Given the description of an element on the screen output the (x, y) to click on. 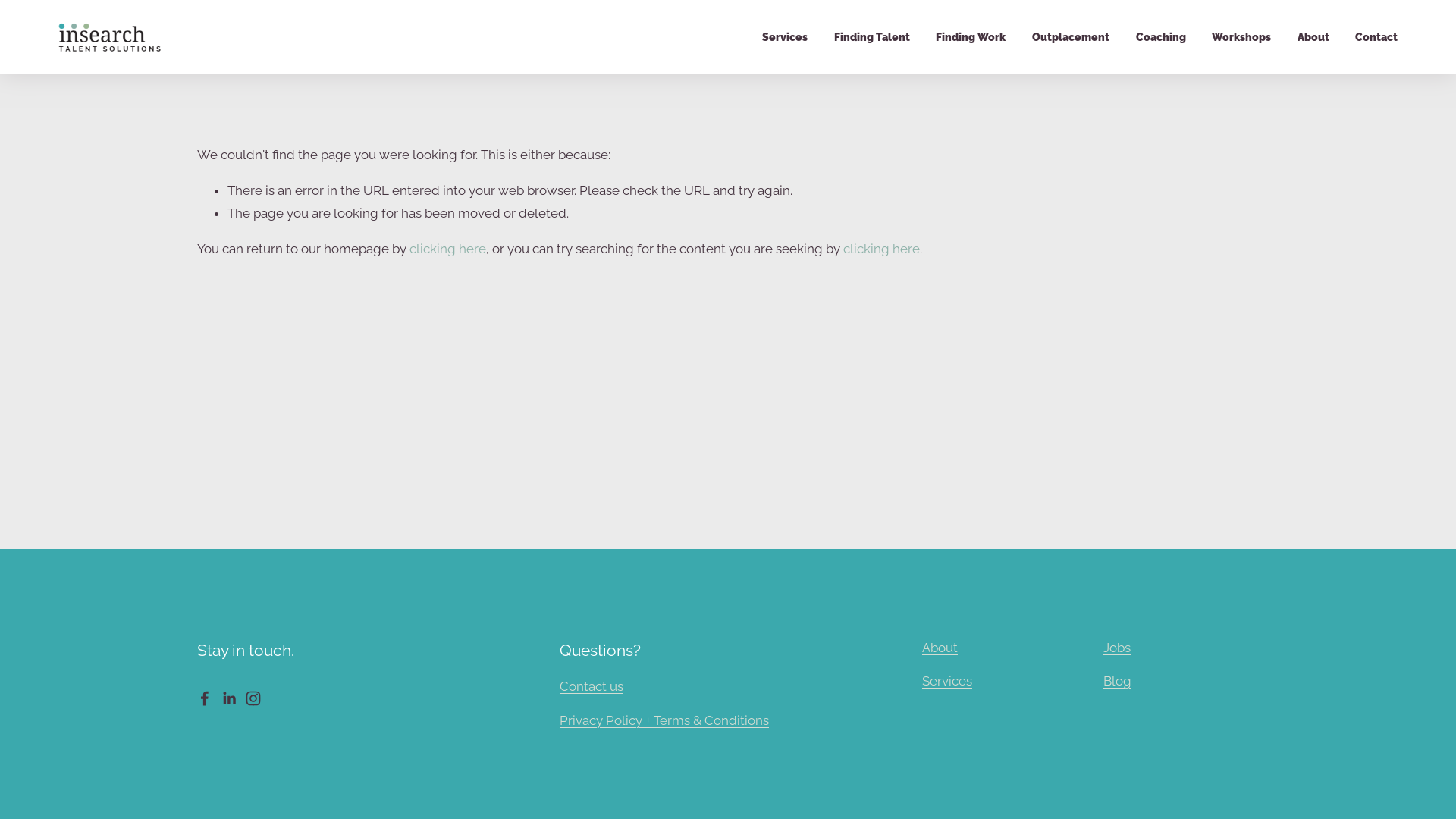
Workshops Element type: text (1240, 36)
Contact Element type: text (1376, 36)
Privacy Policy + Terms & Conditions Element type: text (663, 720)
Services Element type: text (784, 36)
Blog Element type: text (1117, 680)
About Element type: text (939, 647)
Services Element type: text (947, 680)
Outplacement Element type: text (1070, 36)
clicking here Element type: text (881, 248)
Coaching Element type: text (1160, 36)
Finding Work Element type: text (970, 36)
clicking here Element type: text (447, 248)
Contact us Element type: text (591, 685)
Jobs Element type: text (1116, 647)
Finding Talent Element type: text (872, 36)
About Element type: text (1313, 36)
